Given the description of an element on the screen output the (x, y) to click on. 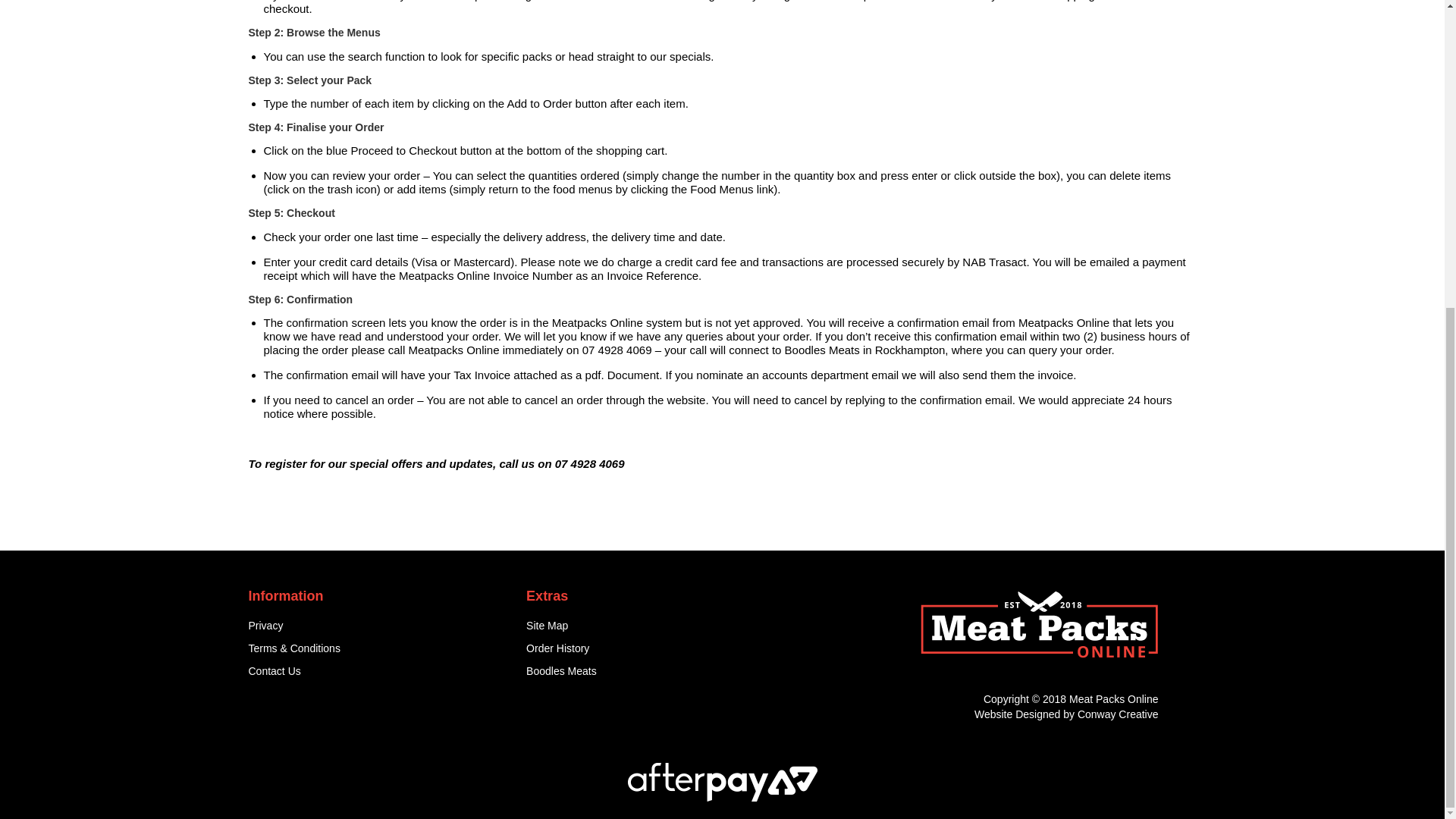
Site Map (653, 626)
Order History (653, 649)
Contact Us (375, 671)
Privacy (375, 626)
Website Designed by Conway Creative (1066, 714)
Boodles Meats (653, 671)
